Given the description of an element on the screen output the (x, y) to click on. 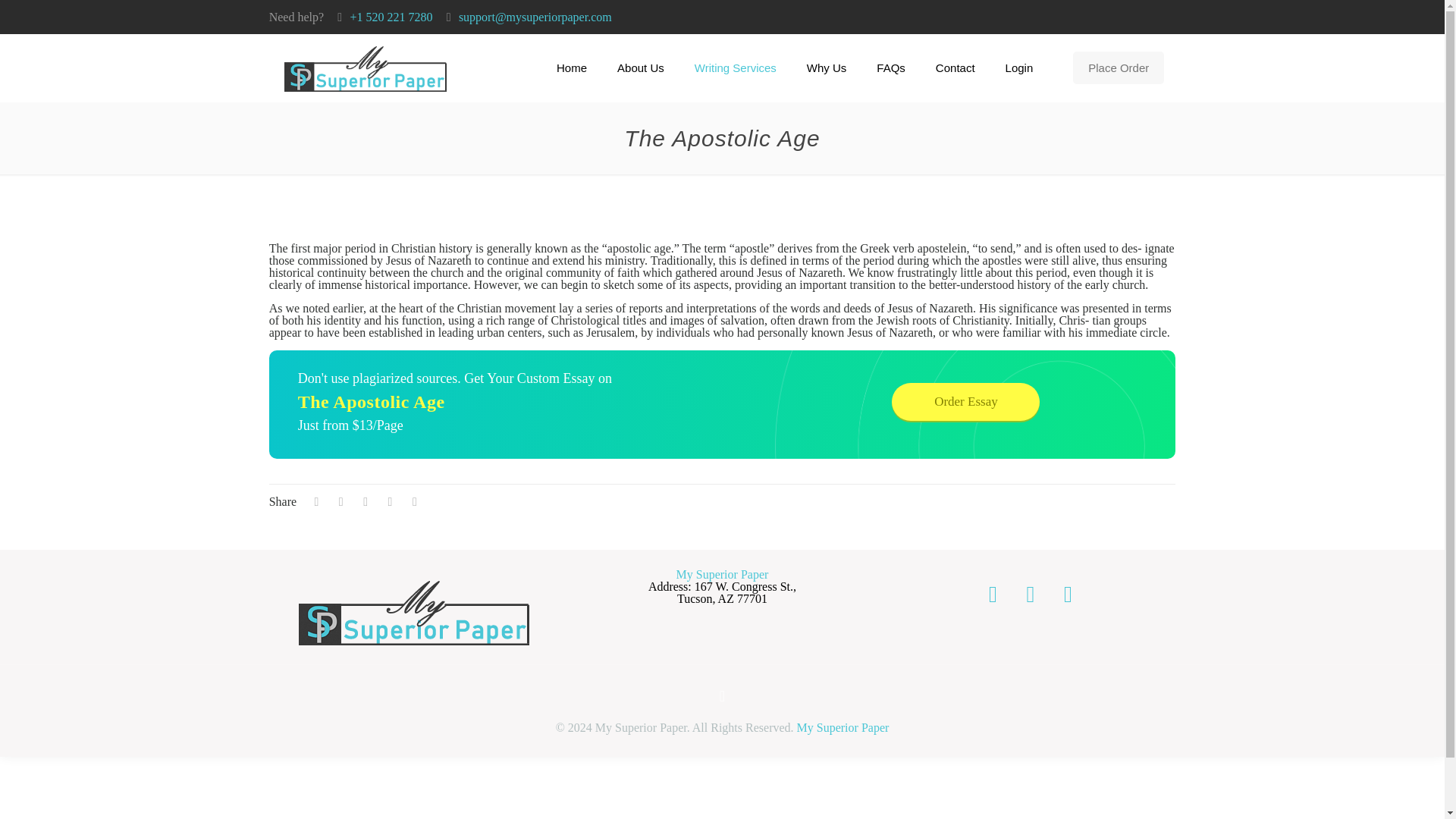
Why Us (826, 68)
Writing Services (735, 68)
My Superior Paper (364, 68)
Order Essay (965, 401)
My Superior Paper (842, 727)
Contact (955, 68)
Place Order (1118, 67)
About Us (640, 68)
